Given the description of an element on the screen output the (x, y) to click on. 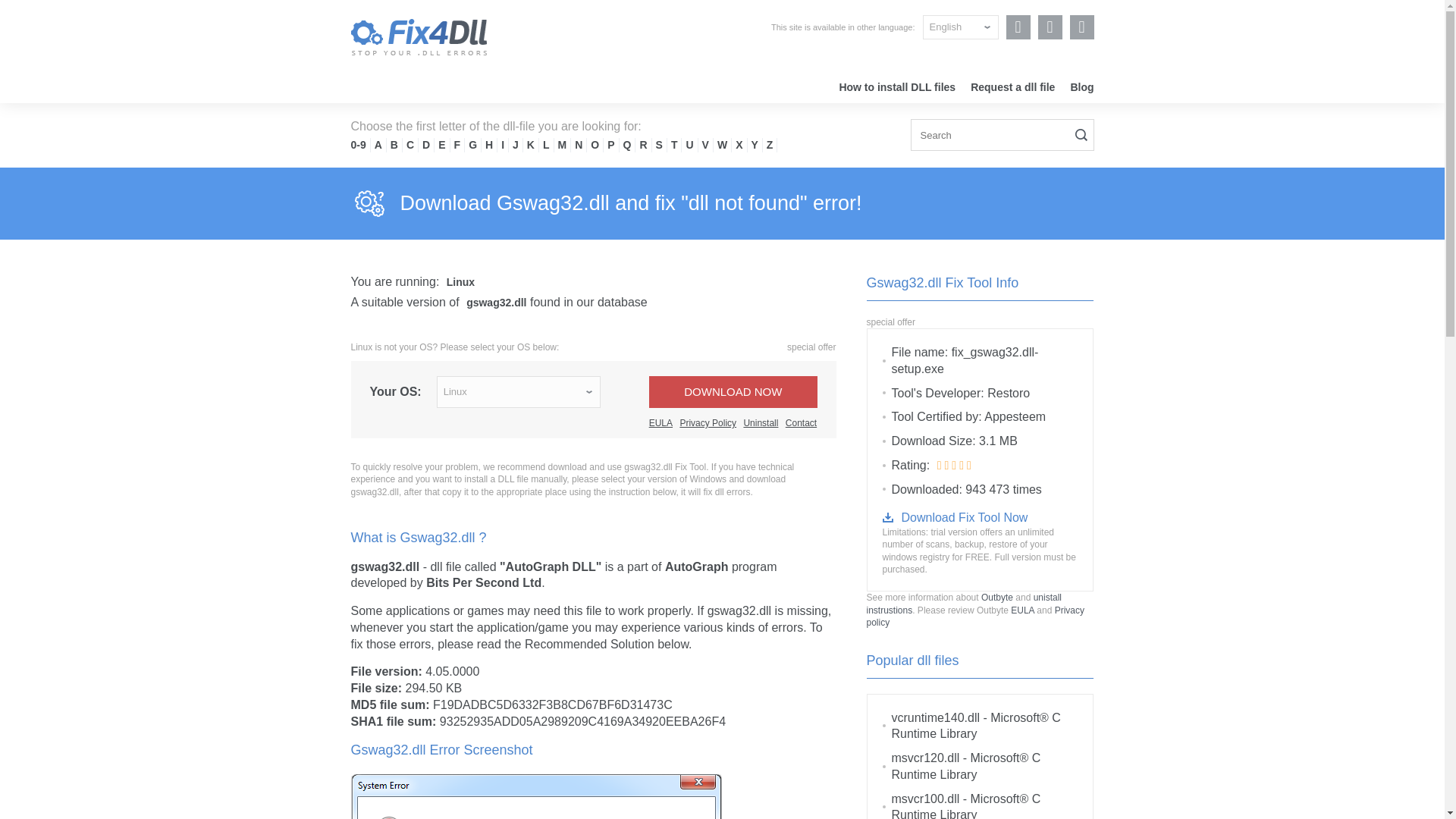
Request a dll file (1012, 87)
DOWNLOAD NOW (732, 391)
0-9 (357, 144)
special offer (811, 346)
gswag32.dll missing (535, 795)
How to install DLL files (896, 87)
Blog (1081, 87)
Fix4Dll.com - stop your .dll errors (418, 36)
